Given the description of an element on the screen output the (x, y) to click on. 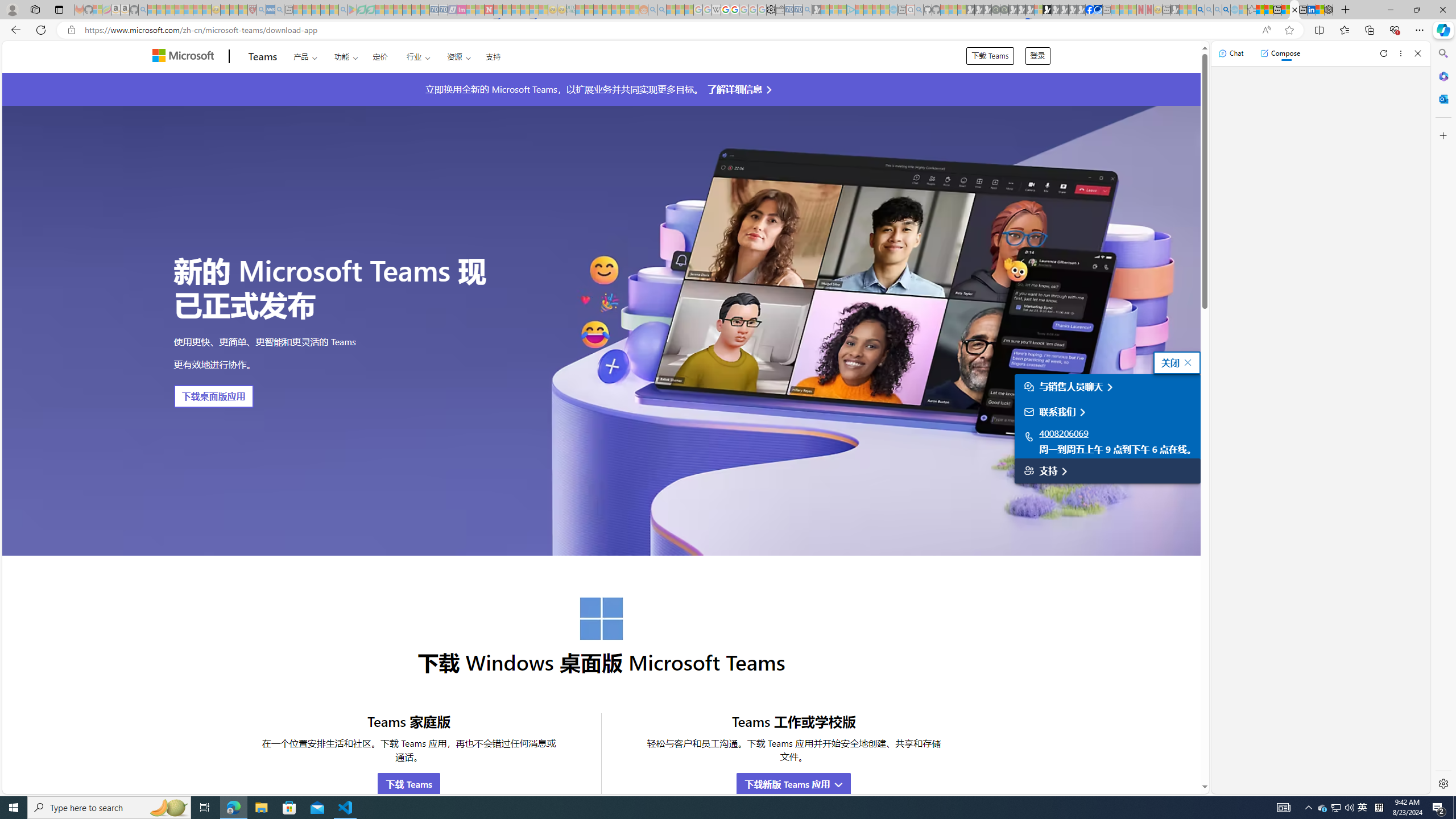
Expert Portfolios - Sleeping (606, 9)
Wallet - Sleeping (779, 9)
Favorites - Sleeping (1251, 9)
Microsoft (184, 56)
Aberdeen, Hong Kong SAR weather forecast | Microsoft Weather (1268, 9)
